Given the description of an element on the screen output the (x, y) to click on. 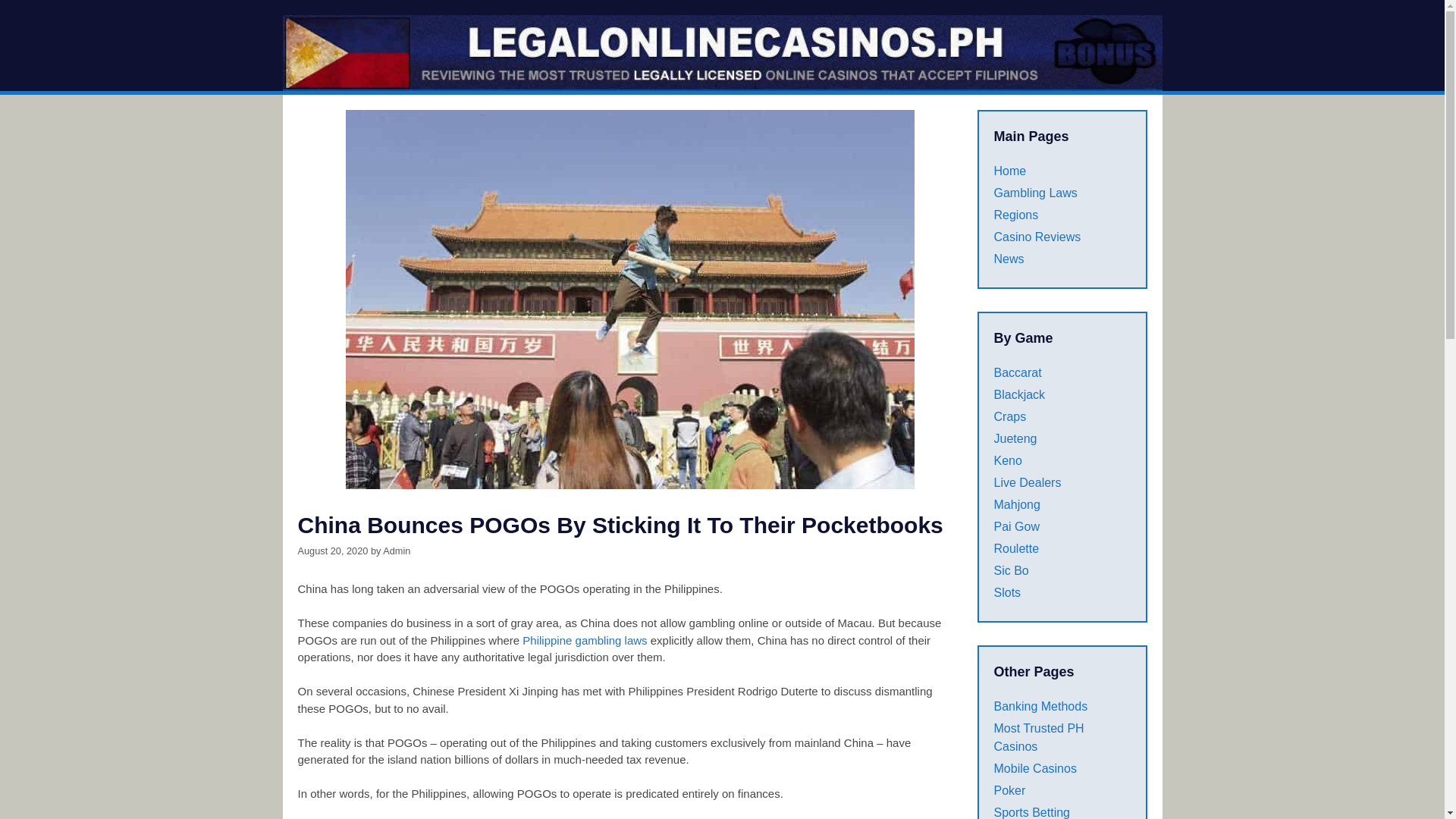
Jueteng (1014, 438)
View all posts by Admin (396, 550)
Baccarat (1016, 372)
Sic Bo (1009, 570)
Roulette (1015, 548)
Mahjong (1015, 504)
Pai Gow (1015, 526)
Blackjack (1018, 394)
Live Dealers (1026, 481)
Mobile Casinos (1033, 768)
Poker (1008, 789)
Home (1009, 170)
Gambling Laws (1034, 192)
Sports Betting (1031, 812)
Admin (396, 550)
